Given the description of an element on the screen output the (x, y) to click on. 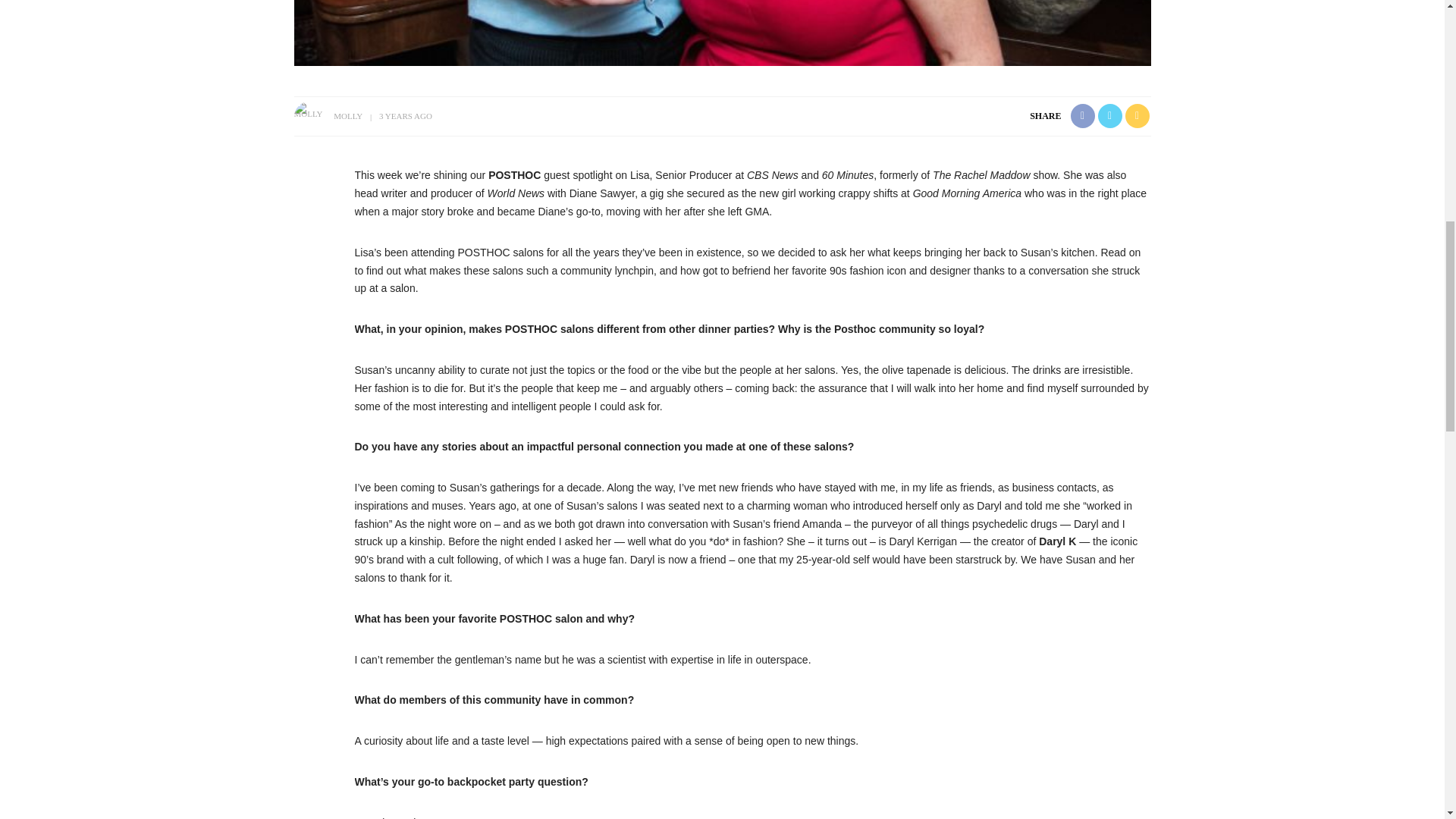
Daryl K (1057, 541)
MOLLY (347, 115)
Post by Molly (347, 115)
POSTHOC (513, 174)
